Given the description of an element on the screen output the (x, y) to click on. 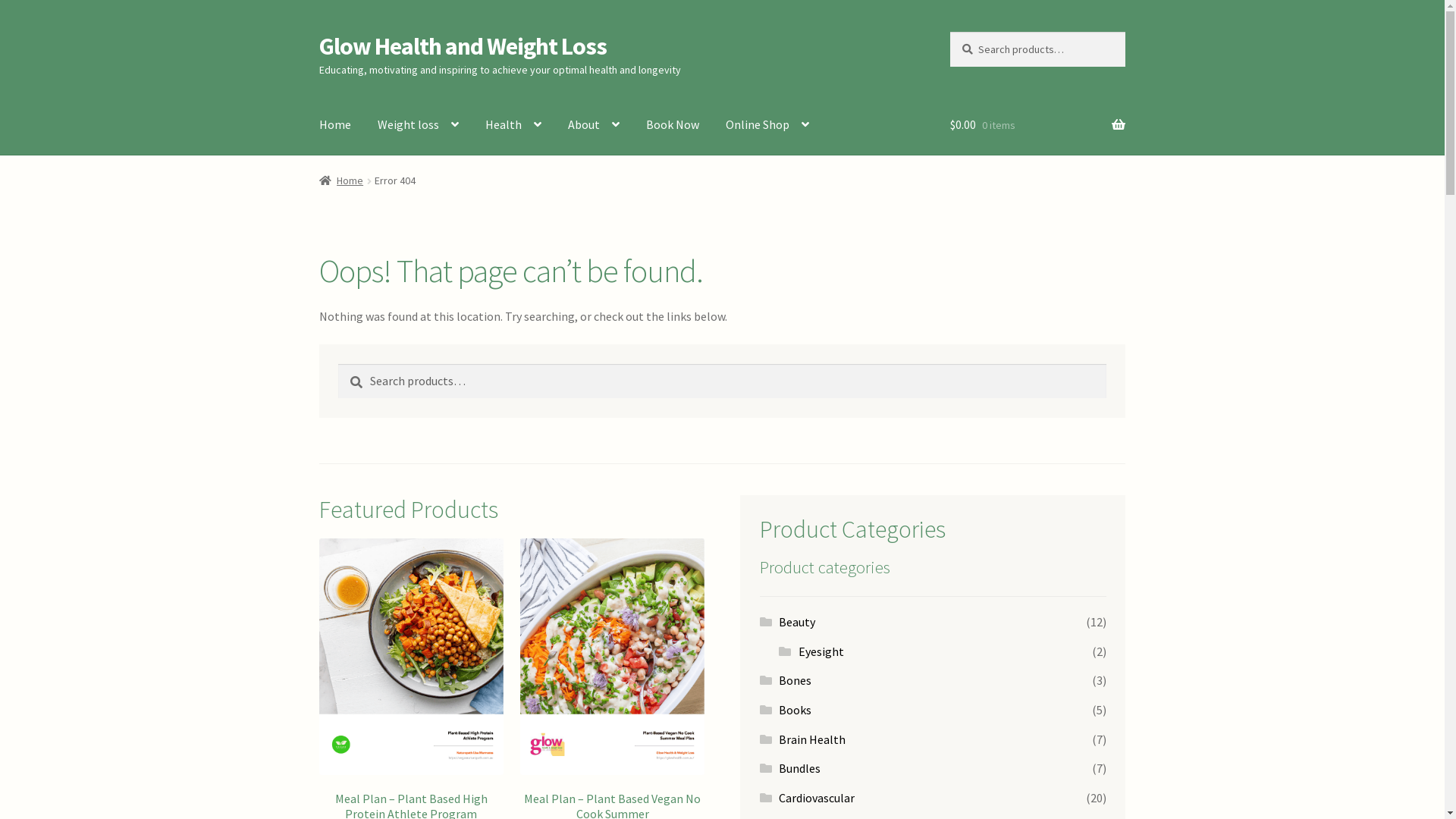
$0.00 0 items Element type: text (1037, 124)
Beauty Element type: text (796, 621)
Health Element type: text (513, 124)
Search Element type: text (949, 31)
Home Element type: text (335, 124)
About Element type: text (593, 124)
Home Element type: text (341, 180)
Bones Element type: text (794, 679)
Glow Health and Weight Loss Element type: text (462, 46)
Eyesight Element type: text (821, 650)
Weight loss Element type: text (417, 124)
Cardiovascular Element type: text (816, 797)
Book Now Element type: text (672, 124)
Skip to navigation Element type: text (318, 31)
Bundles Element type: text (799, 767)
Brain Health Element type: text (811, 738)
Online Shop Element type: text (767, 124)
Search Element type: text (337, 363)
Books Element type: text (794, 709)
